Given the description of an element on the screen output the (x, y) to click on. 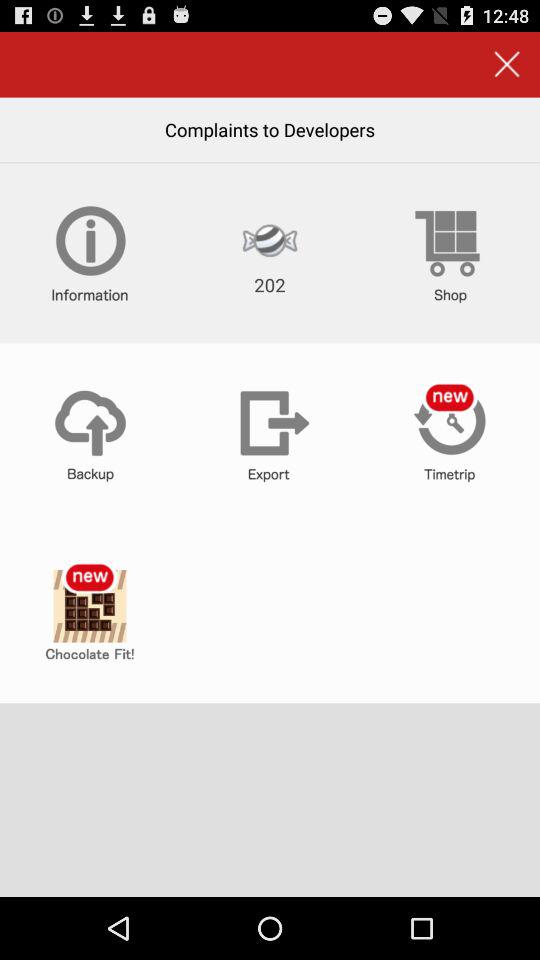
open new app (90, 613)
